Given the description of an element on the screen output the (x, y) to click on. 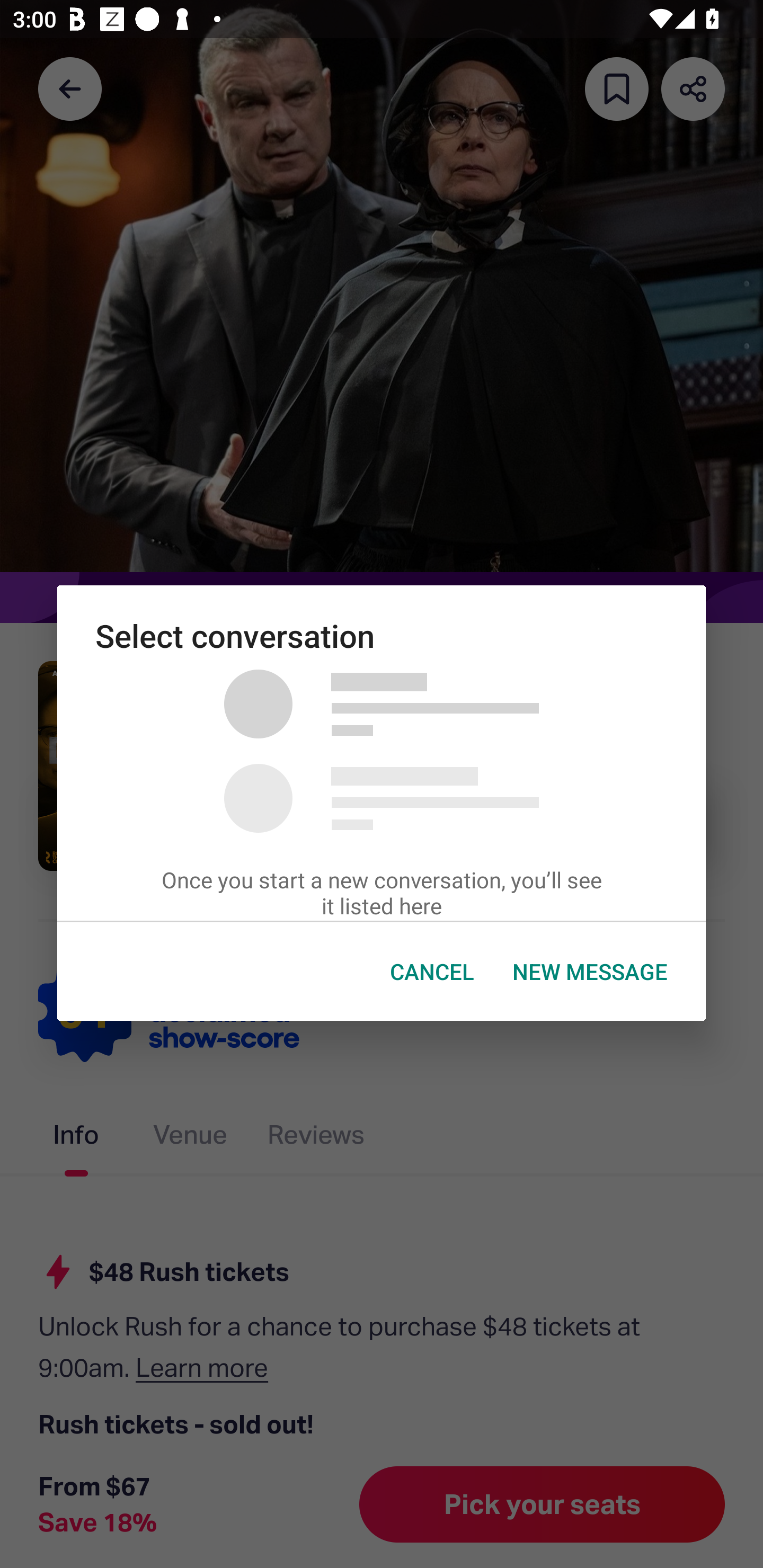
CANCEL (431, 971)
NEW MESSAGE (589, 971)
